Given the description of an element on the screen output the (x, y) to click on. 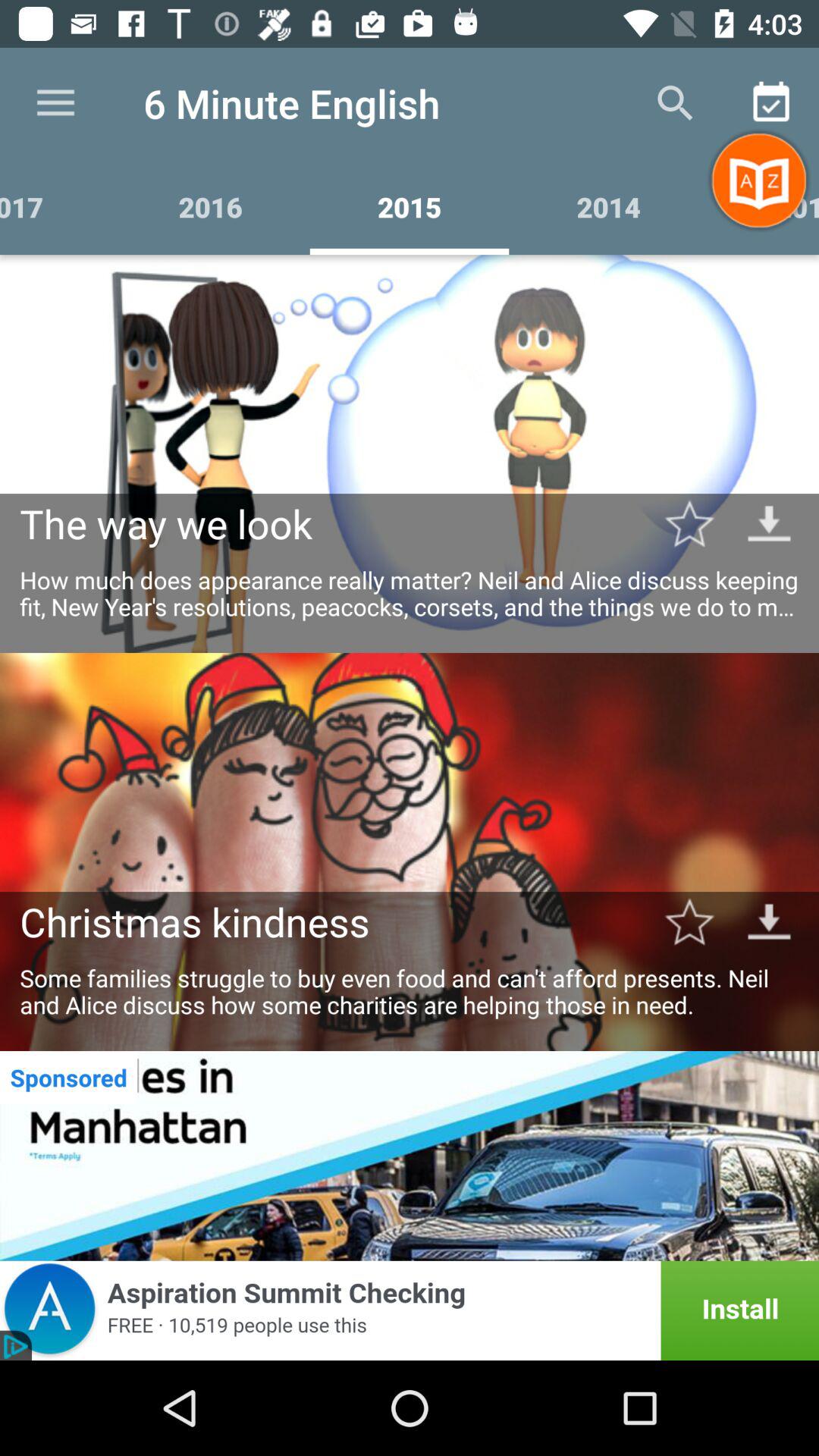
launch sponsored at the bottom left corner (68, 1077)
